Given the description of an element on the screen output the (x, y) to click on. 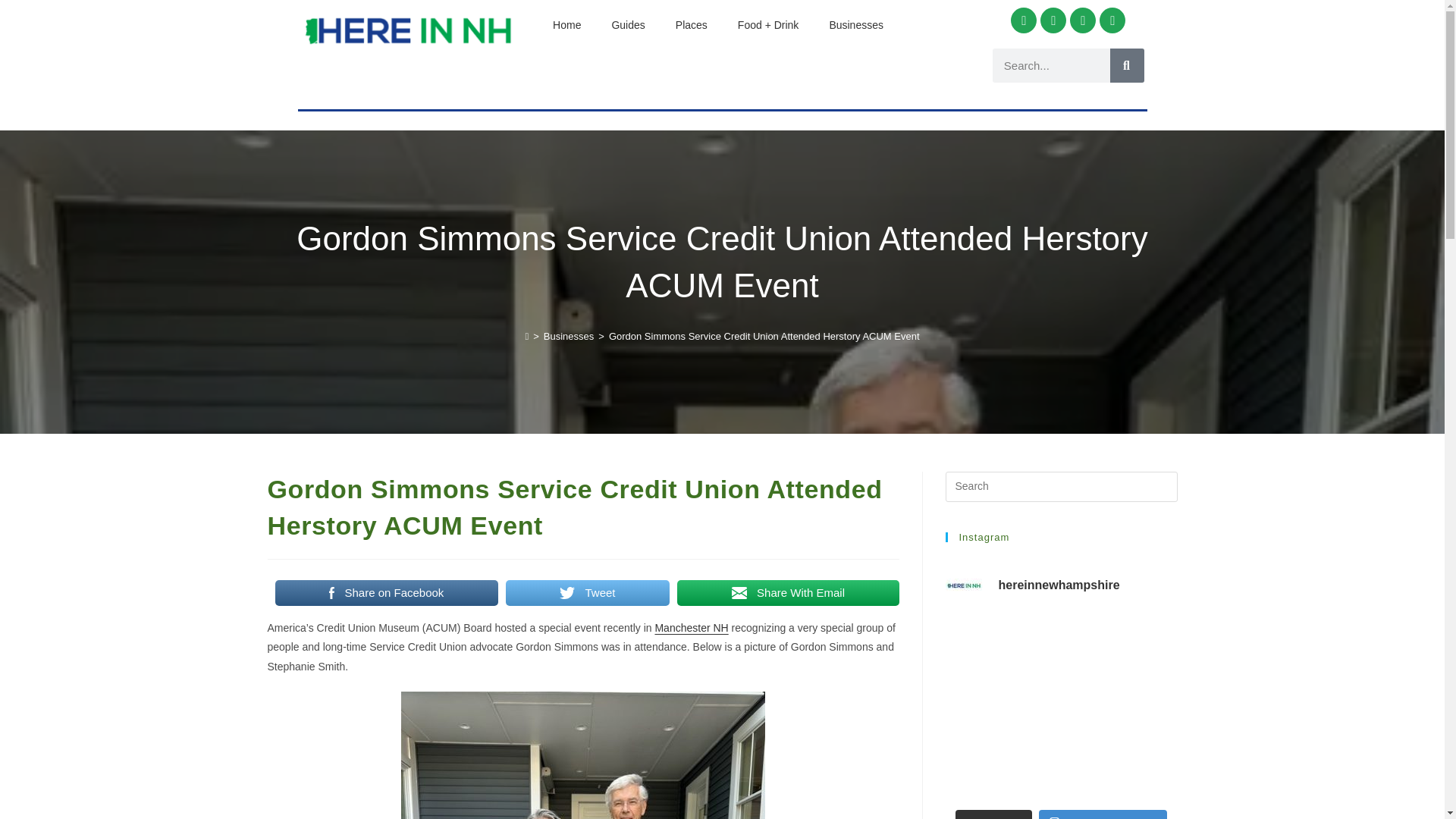
Guides (627, 24)
Places (691, 24)
Share on Facebook (386, 592)
Tweet (587, 592)
Businesses (855, 24)
Home (566, 24)
Businesses (568, 336)
Share With Email (787, 592)
